Given the description of an element on the screen output the (x, y) to click on. 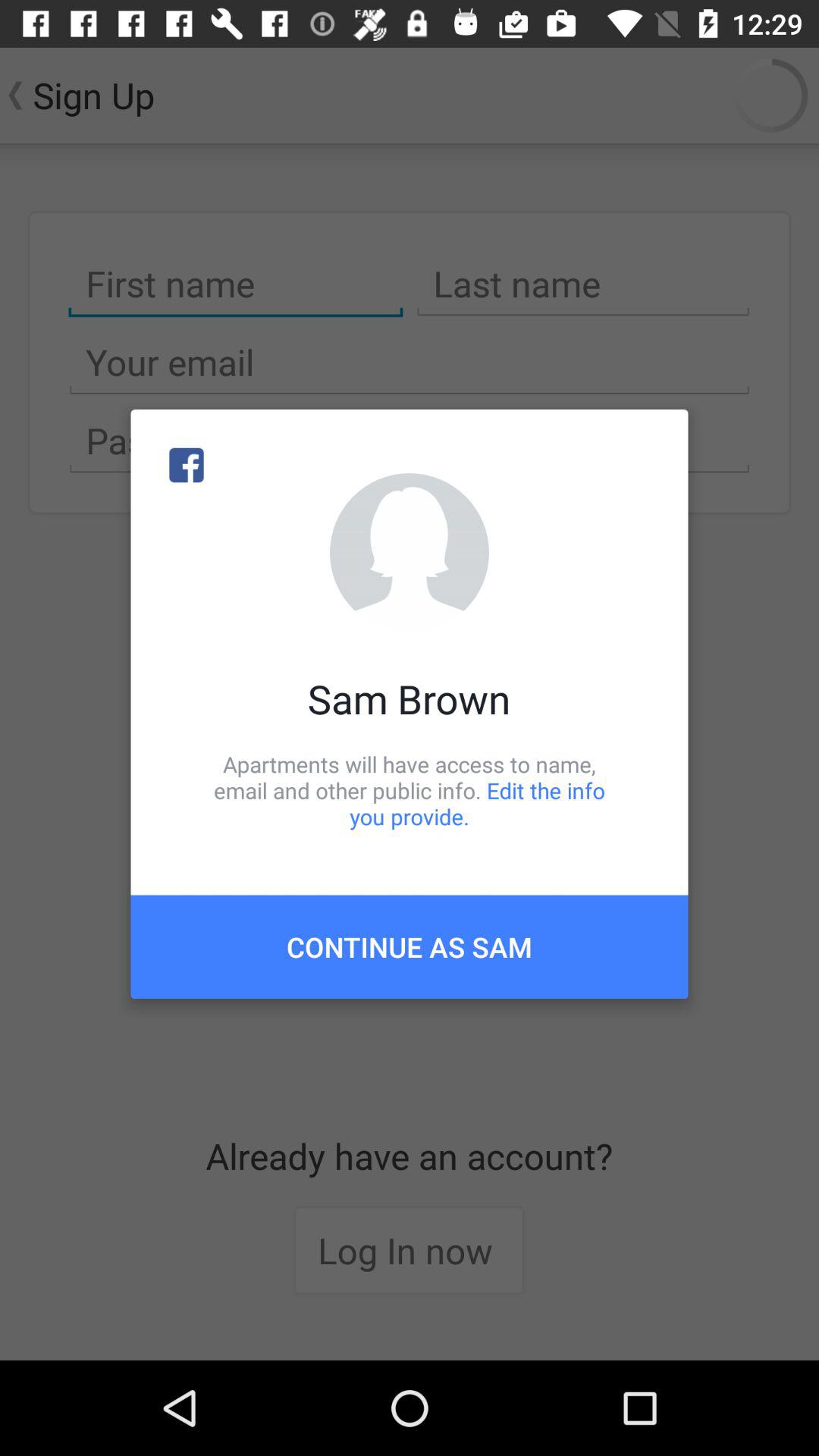
scroll to continue as sam icon (409, 946)
